Given the description of an element on the screen output the (x, y) to click on. 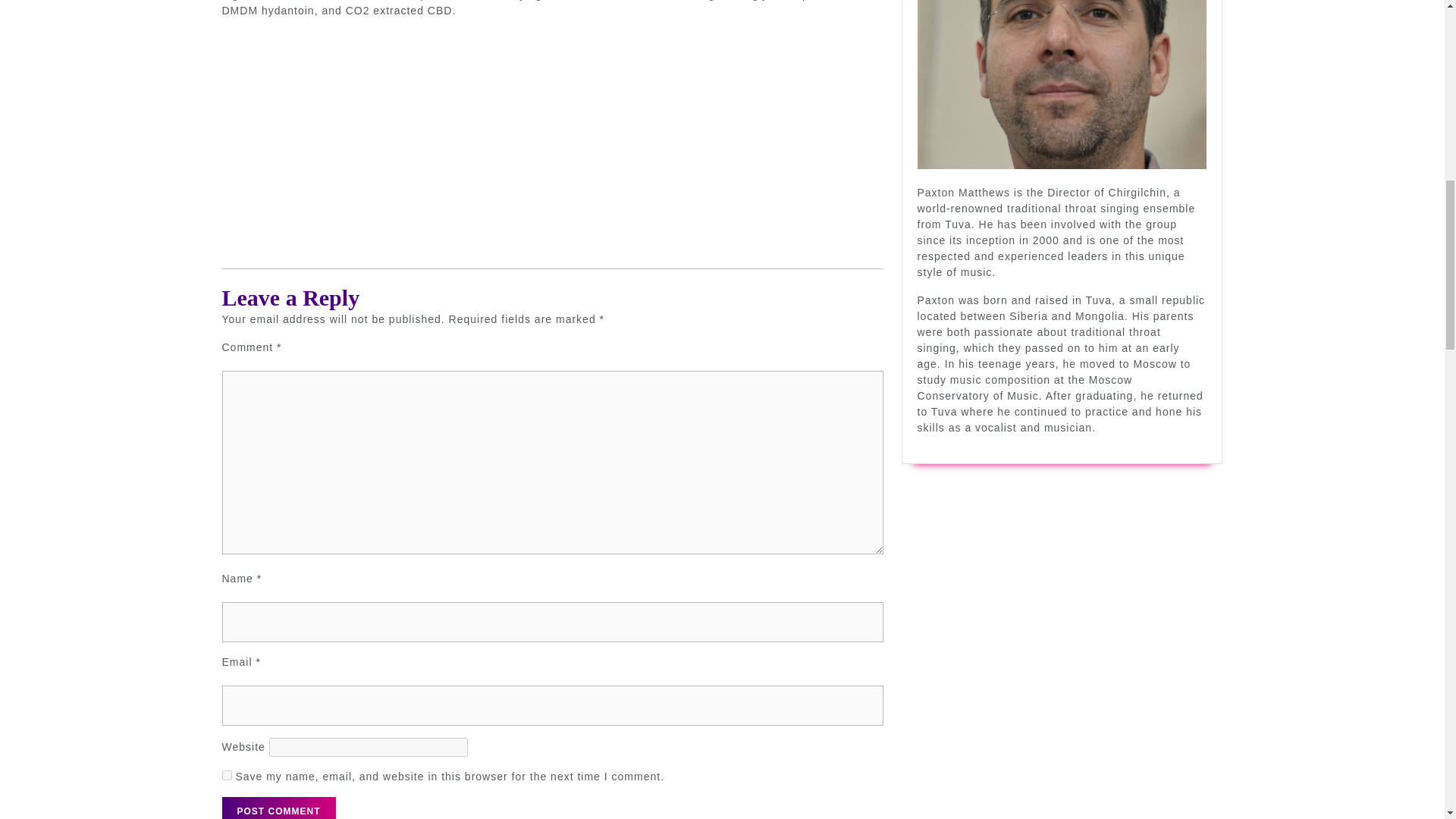
Post Comment (277, 807)
Post Comment (277, 807)
yes (226, 775)
